Given the description of an element on the screen output the (x, y) to click on. 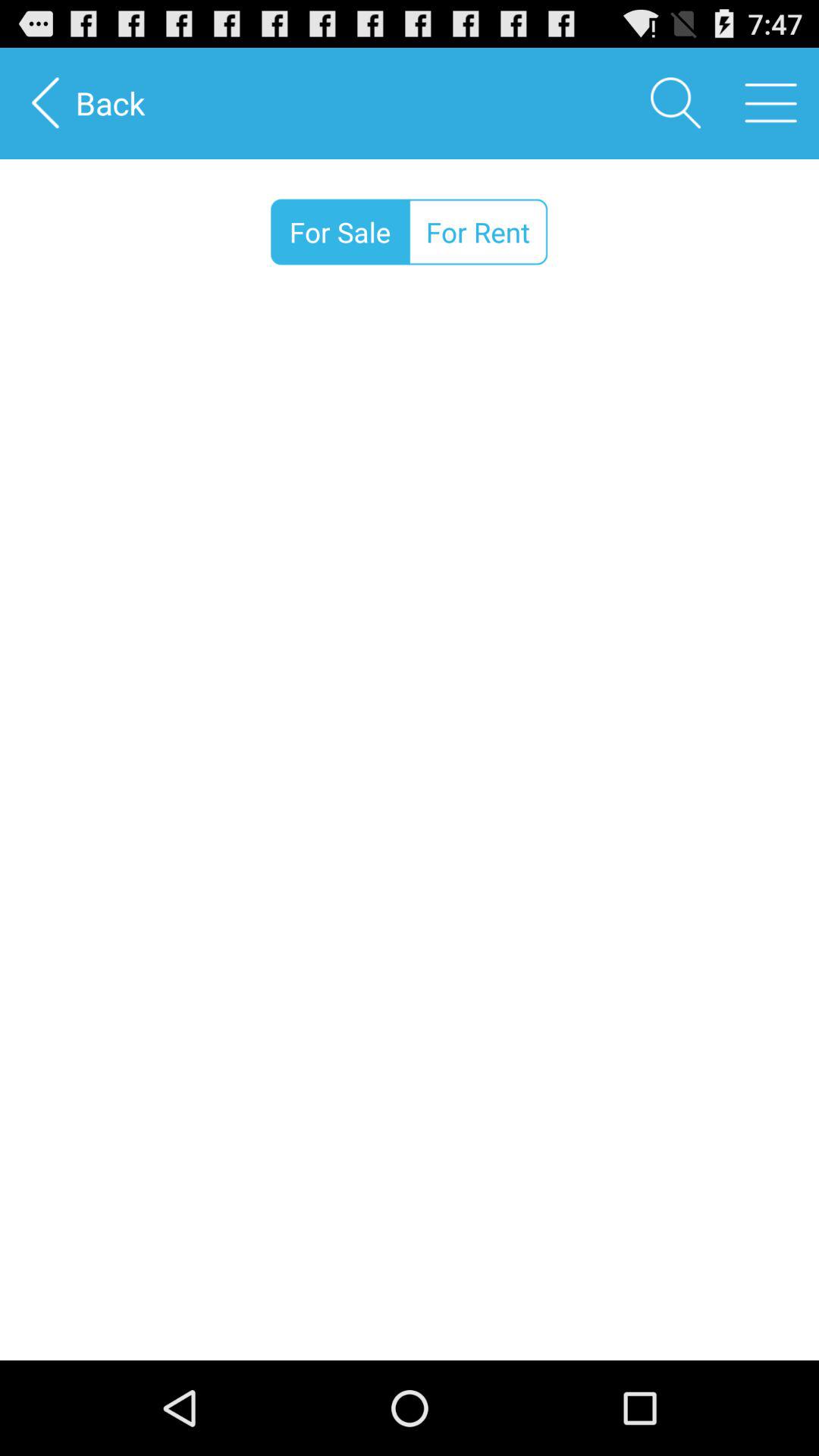
tap the icon next to back item (675, 103)
